Given the description of an element on the screen output the (x, y) to click on. 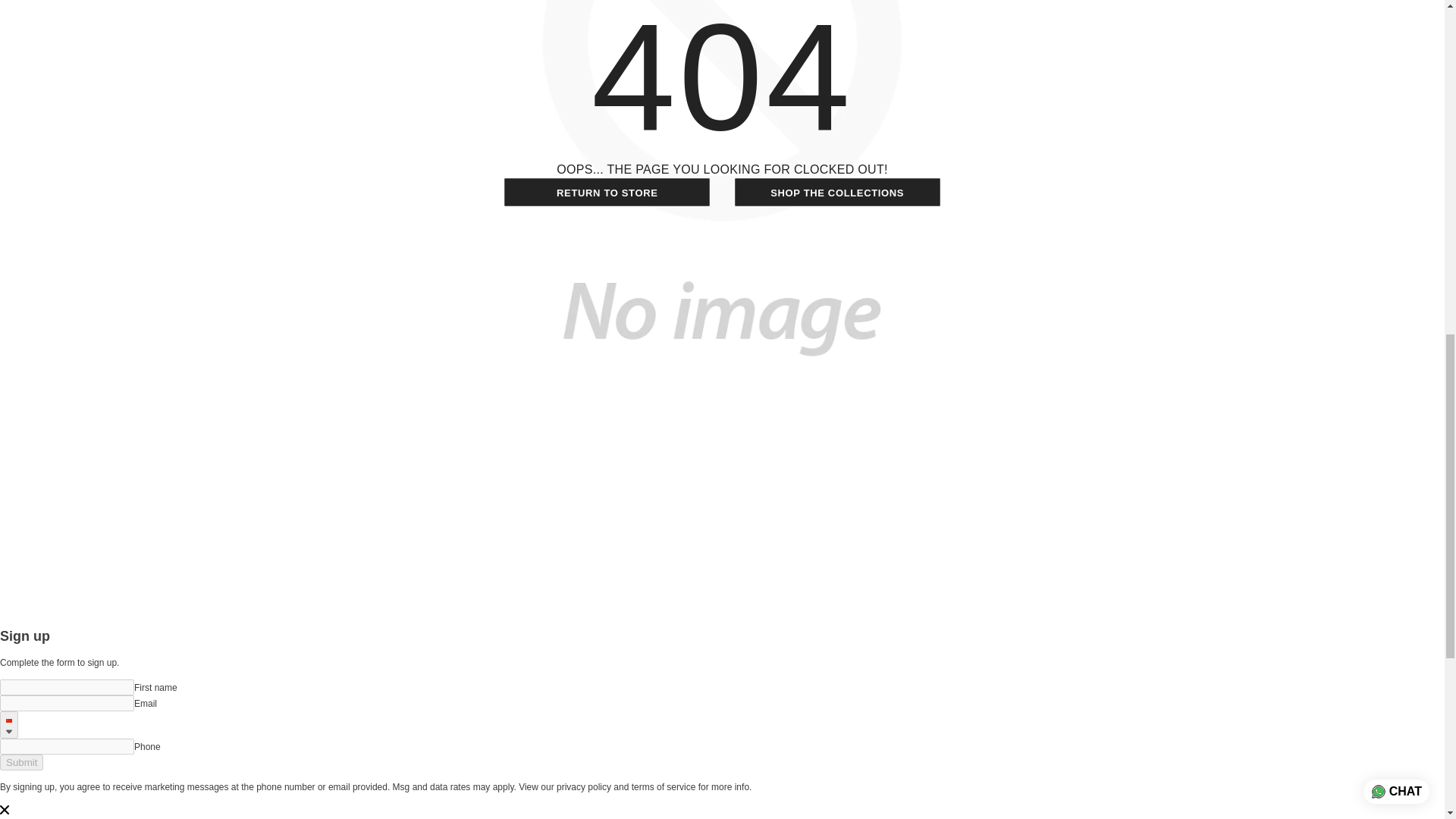
SHOP THE COLLECTIONS (837, 191)
RETURN TO STORE (607, 191)
